Given the description of an element on the screen output the (x, y) to click on. 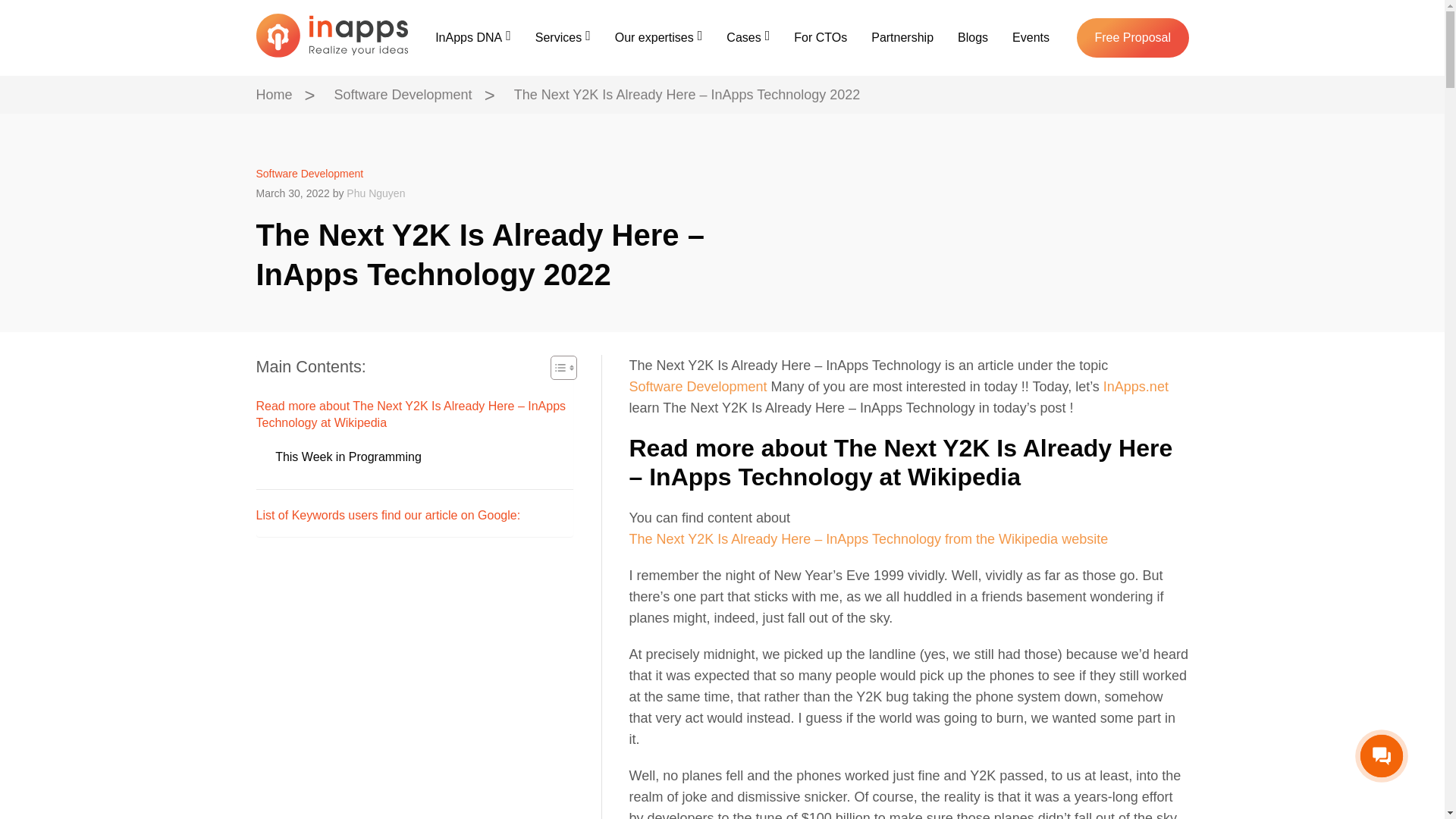
Our expertises (658, 37)
This Week in Programming (348, 457)
For CTOs (820, 37)
Cases (748, 37)
Home (274, 94)
List of Keywords users find our article on Google: (388, 515)
Services (563, 37)
Software Development (402, 94)
InApps DNA (473, 37)
